Given the description of an element on the screen output the (x, y) to click on. 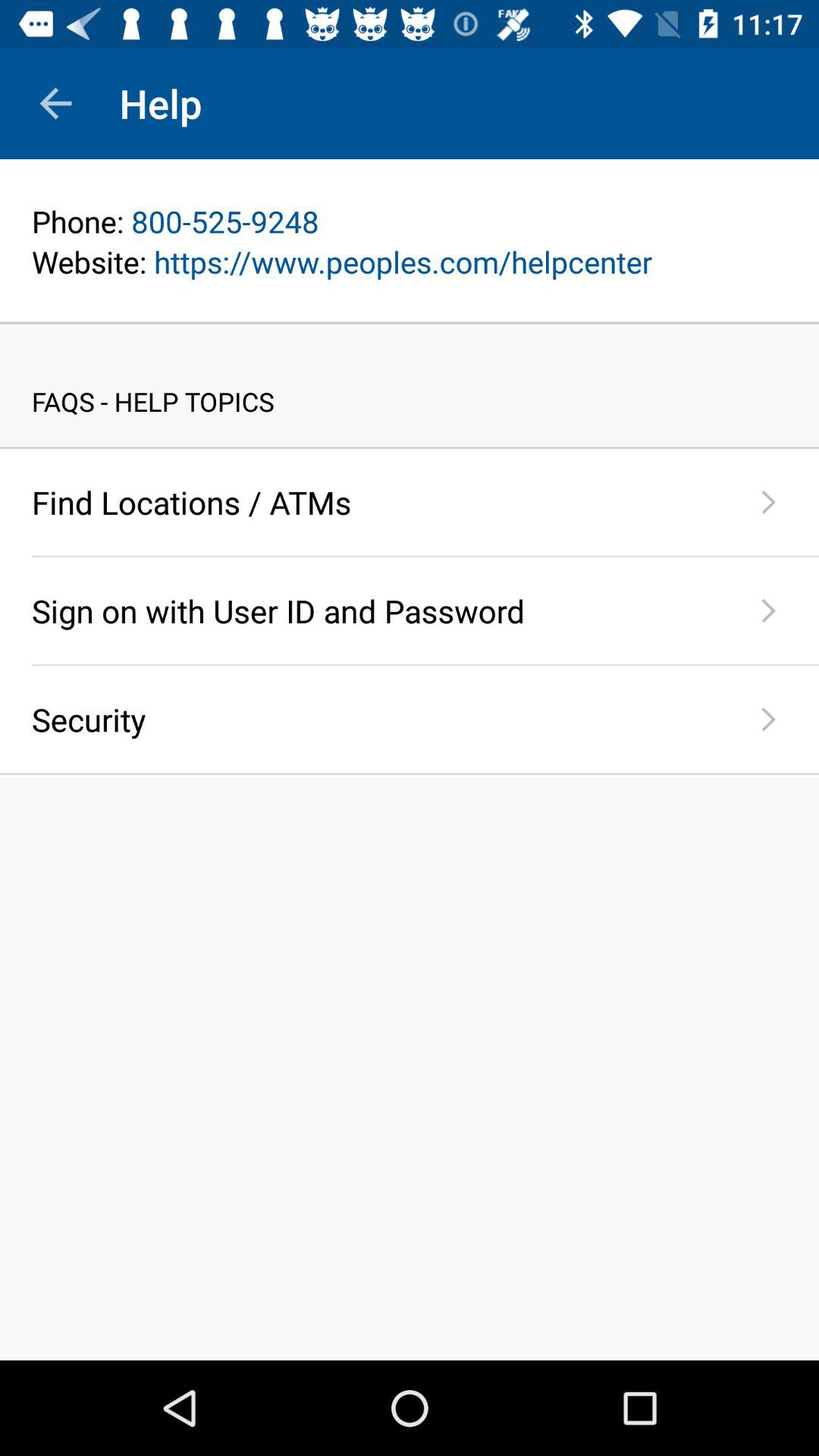
jump until the website https www app (409, 261)
